Given the description of an element on the screen output the (x, y) to click on. 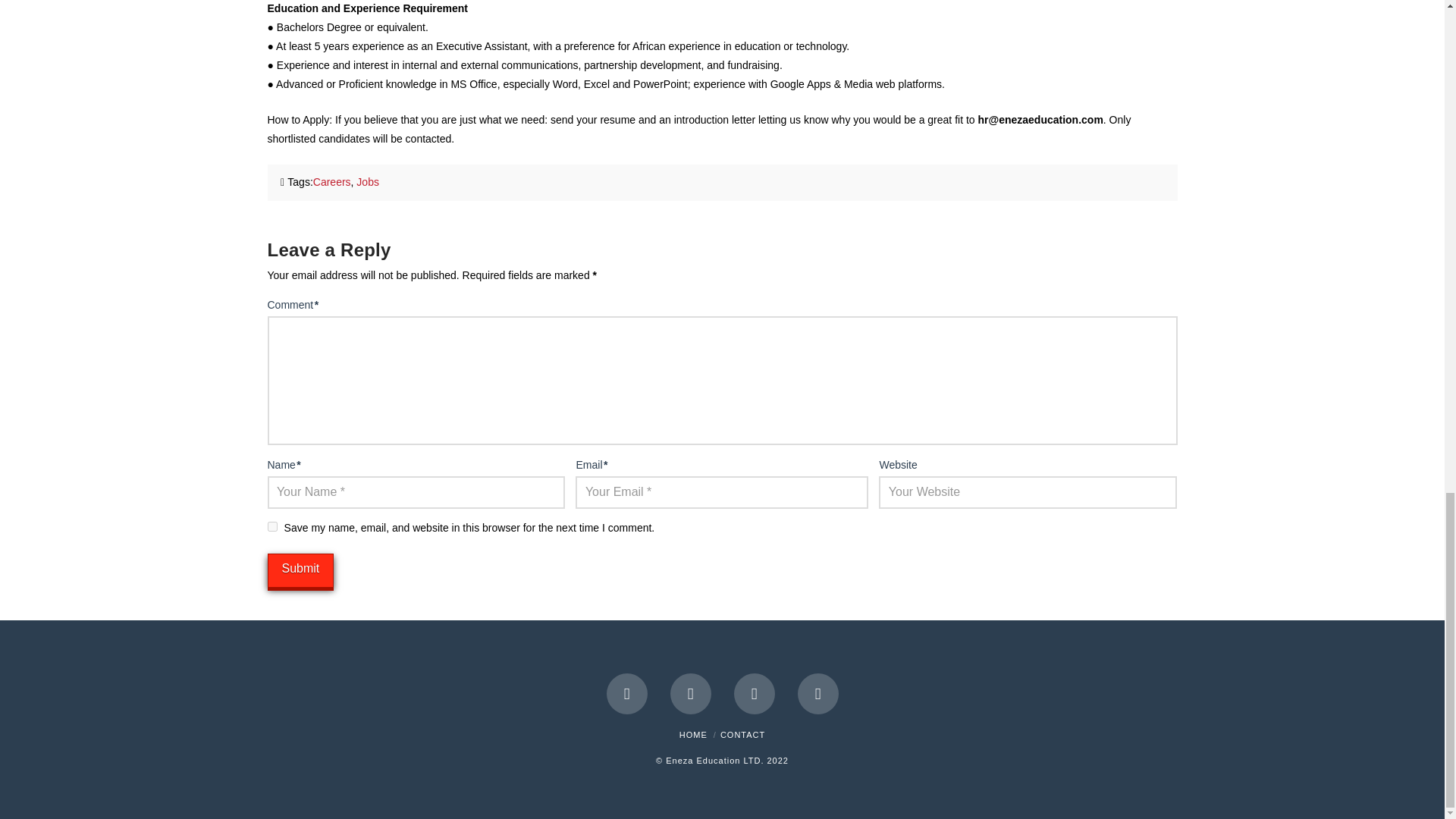
HOME (693, 734)
Facebook (627, 693)
Submit (299, 570)
yes (271, 526)
CONTACT (742, 734)
Submit (299, 570)
Jobs (367, 182)
Instagram (817, 693)
LinkedIn (753, 693)
Careers (331, 182)
